Given the description of an element on the screen output the (x, y) to click on. 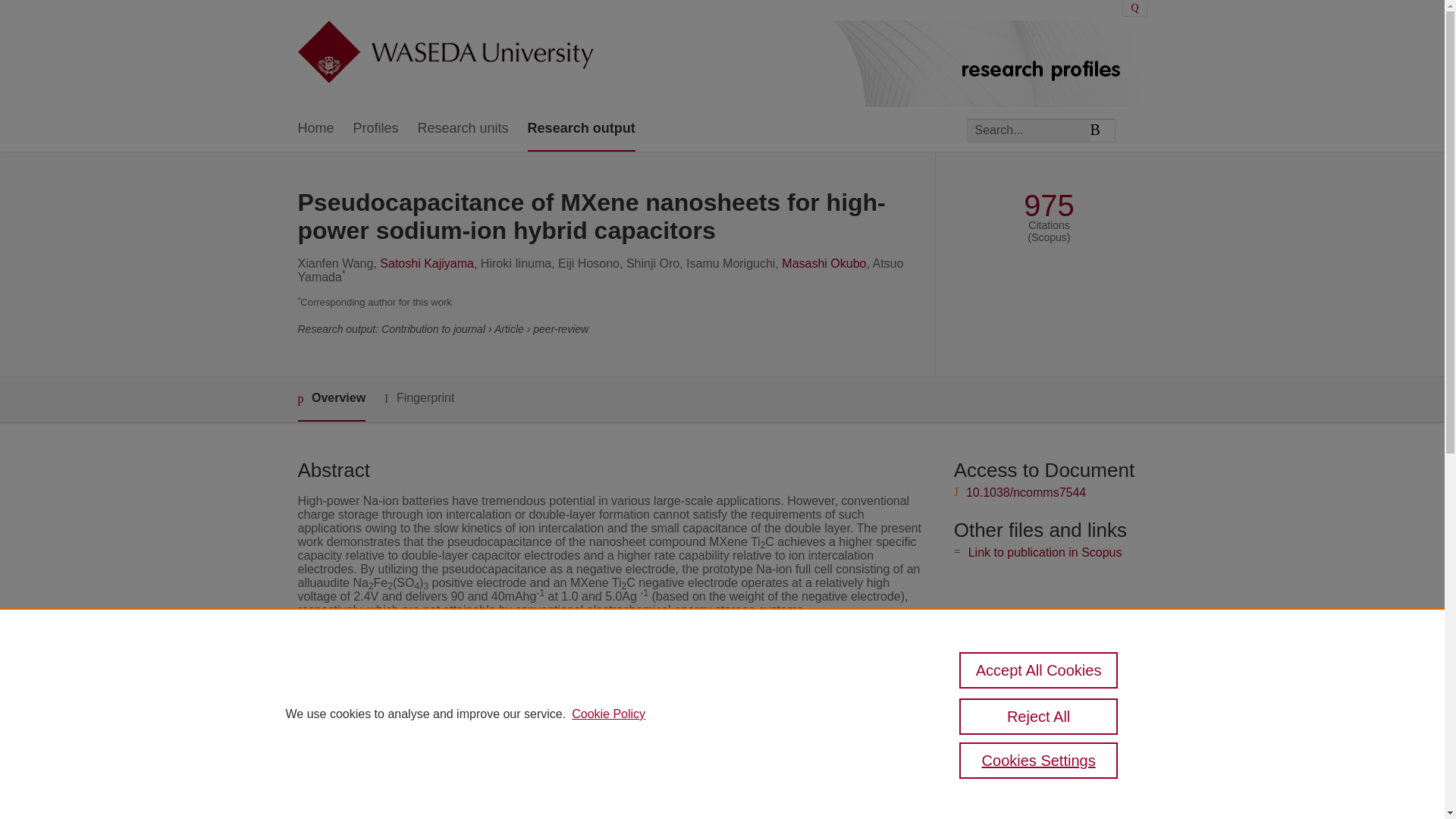
Link to publication in Scopus (1045, 552)
Overview (331, 398)
Satoshi Kajiyama (427, 263)
Waseda University Home (444, 53)
Masashi Okubo (823, 263)
Nature communications (573, 683)
Fingerprint (419, 398)
Cookie Policy (608, 713)
Profiles (375, 129)
Research output (580, 129)
Research units (462, 129)
975 (1048, 205)
